Given the description of an element on the screen output the (x, y) to click on. 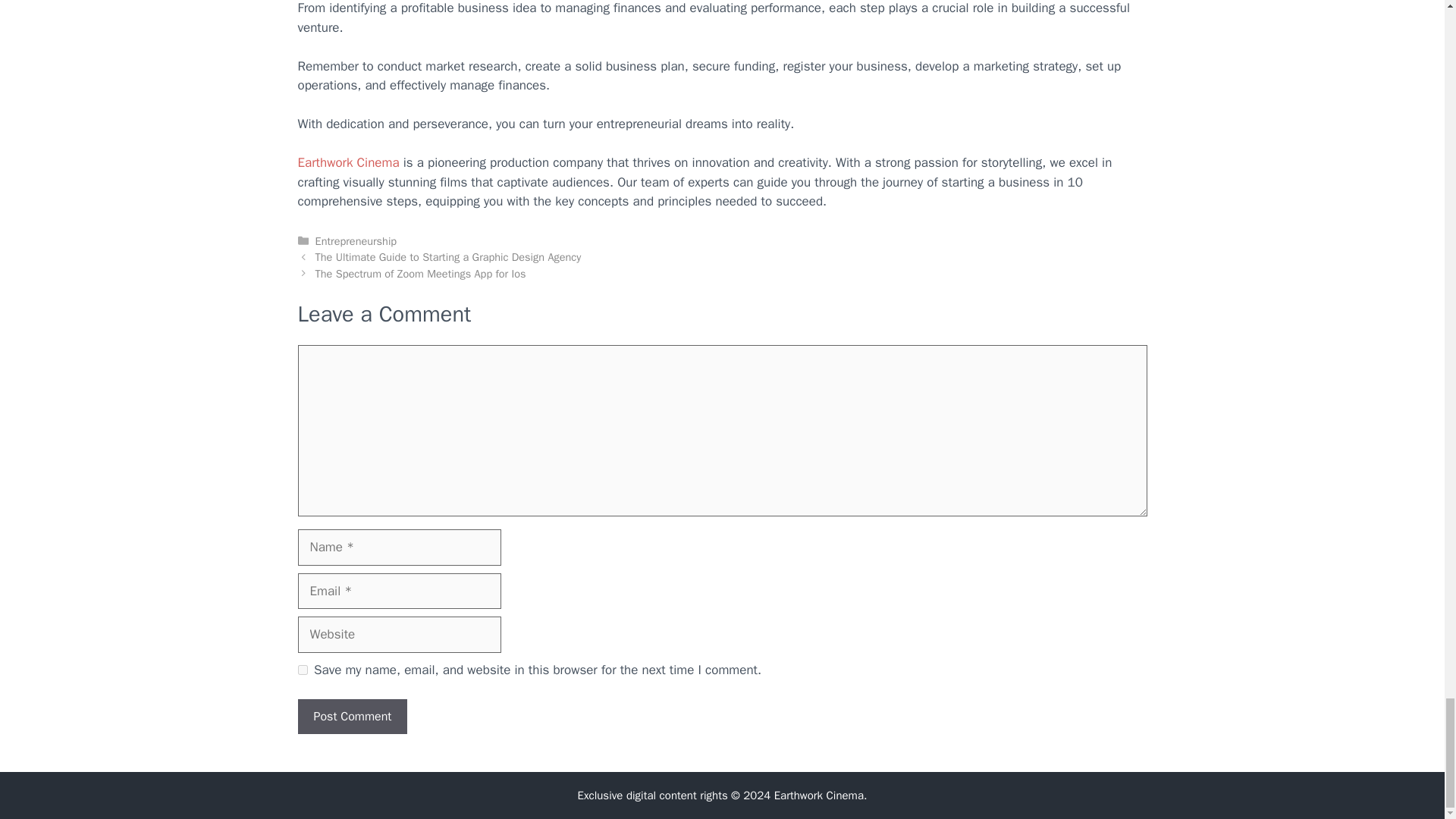
Post Comment (352, 716)
Post Comment (352, 716)
Earthwork Cinema (818, 795)
The Spectrum of Zoom Meetings App for Ios (420, 273)
yes (302, 669)
Earthwork Cinema (347, 162)
Entrepreneurship (356, 241)
The Ultimate Guide to Starting a Graphic Design Agency (447, 256)
